Given the description of an element on the screen output the (x, y) to click on. 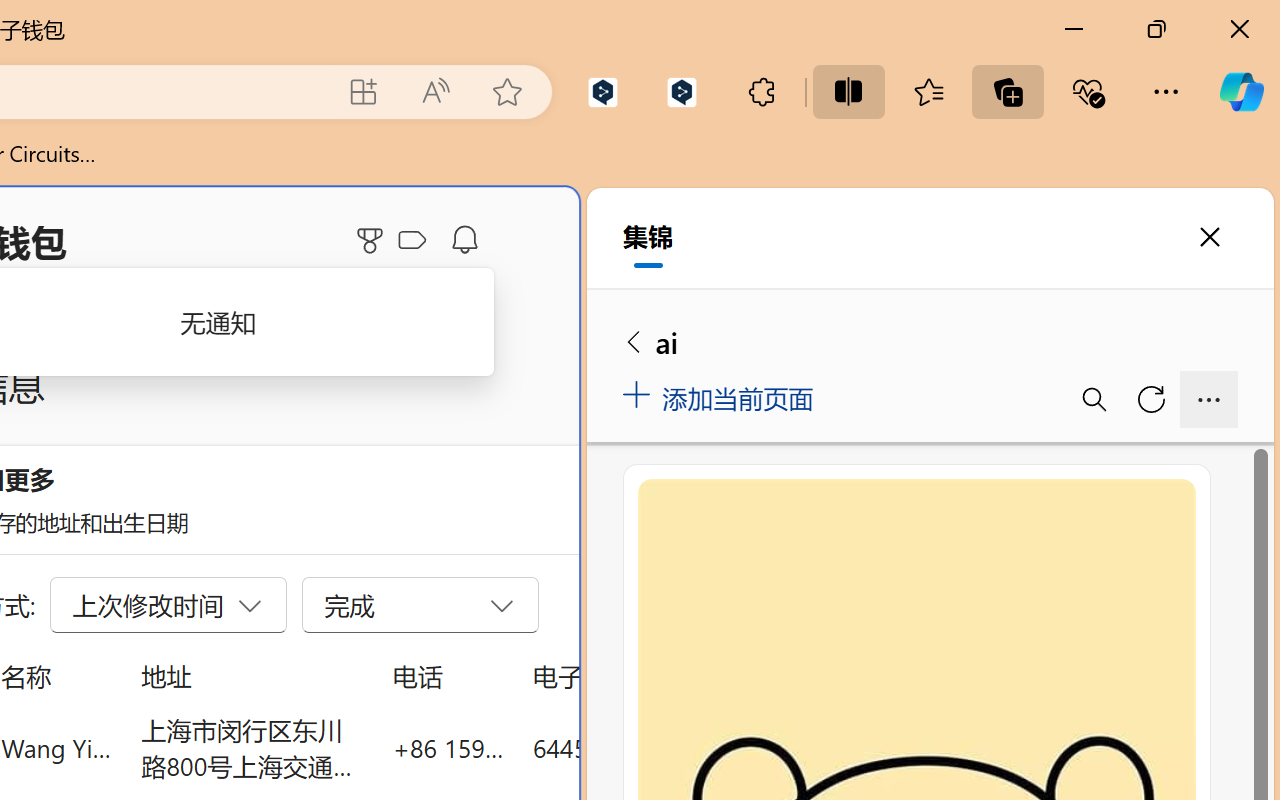
Copilot (Ctrl+Shift+.) (1241, 91)
Microsoft Rewards (373, 240)
